Given the description of an element on the screen output the (x, y) to click on. 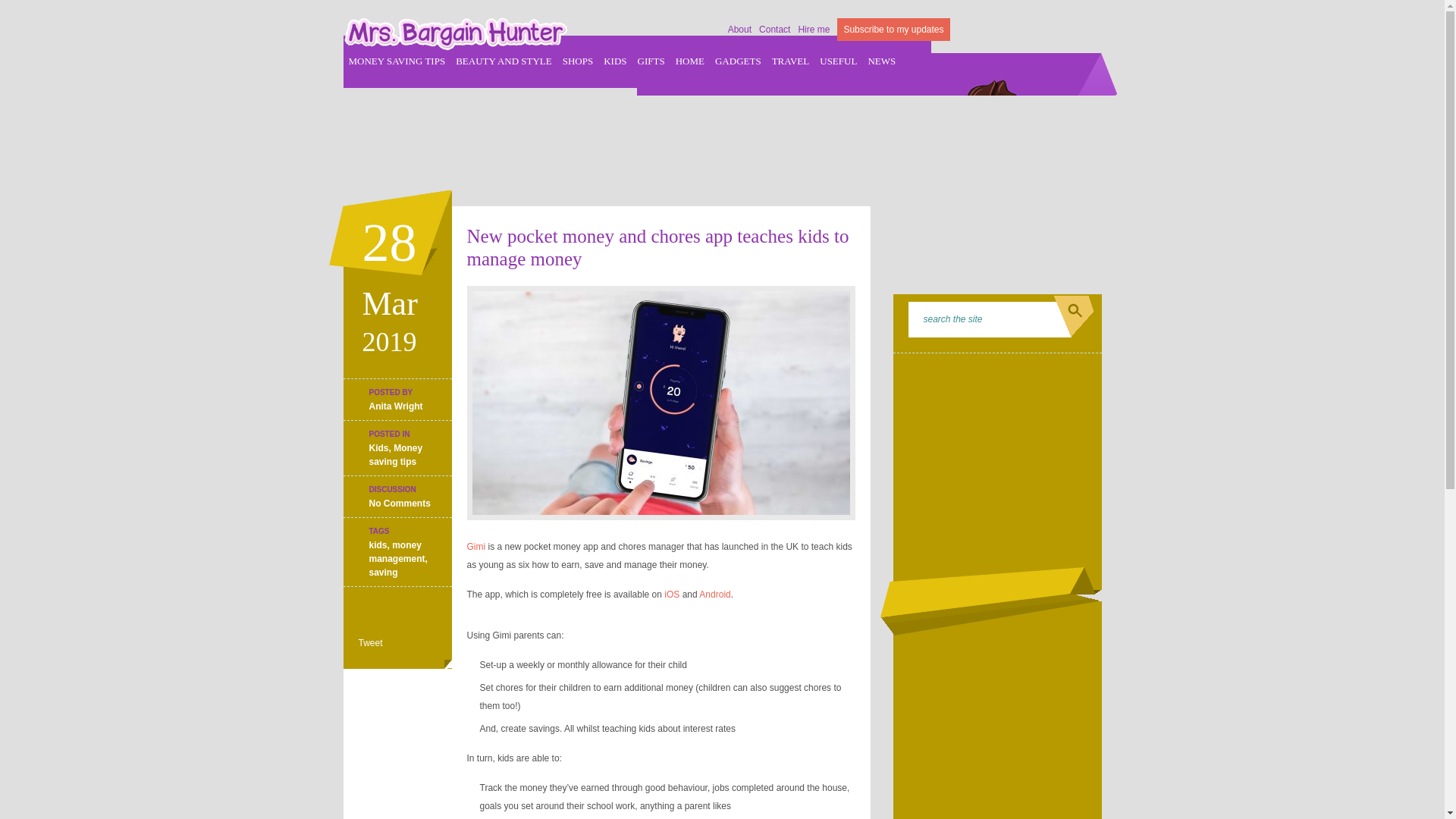
Twitter (1041, 27)
Facebook (1007, 27)
iOS (671, 593)
Money saving tips (395, 454)
Read the full post (661, 402)
Hire me (813, 29)
HOME (690, 61)
Home (972, 27)
SHOPS (577, 61)
